Given the description of an element on the screen output the (x, y) to click on. 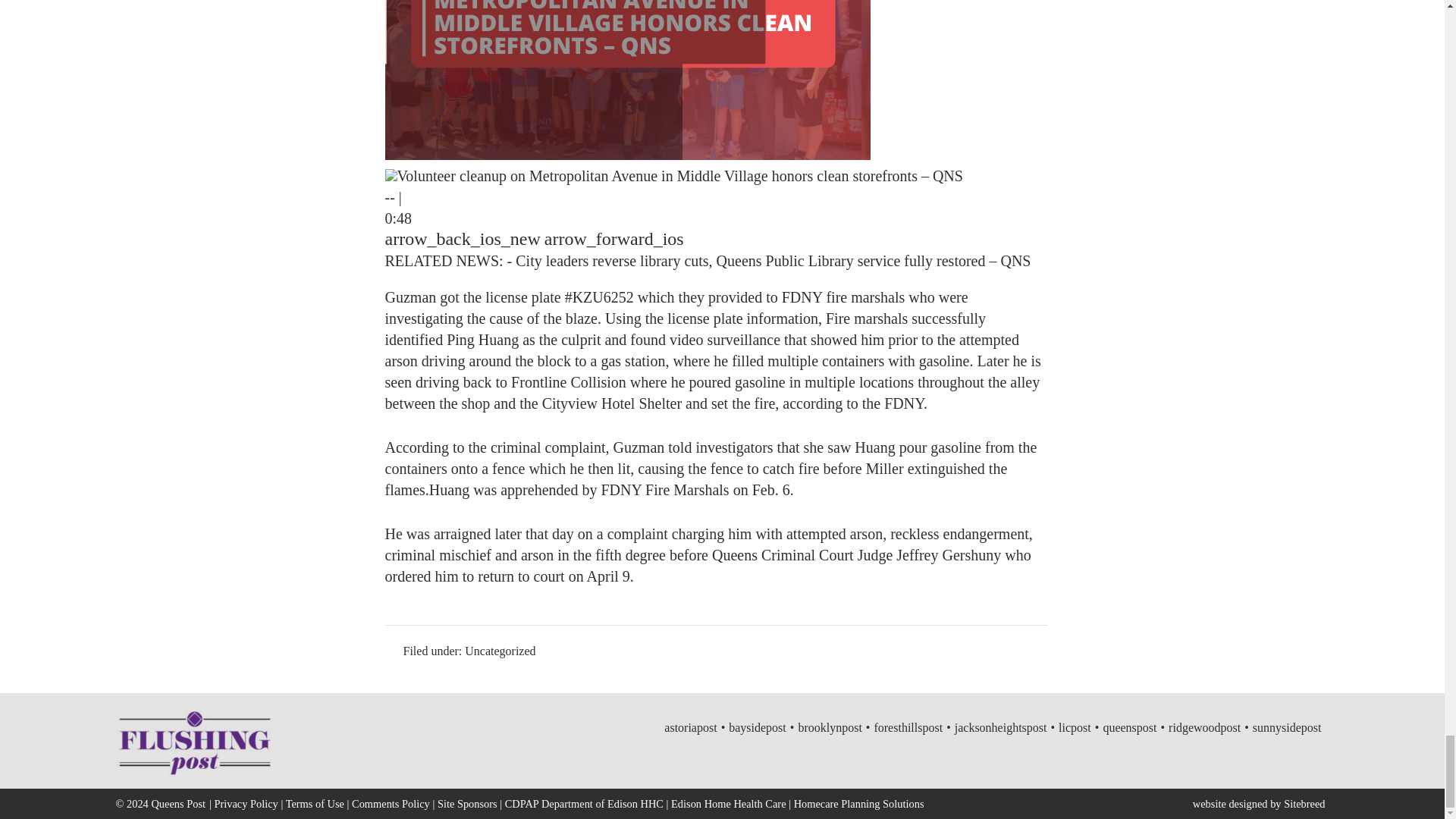
Uncategorized (499, 650)
